Given the description of an element on the screen output the (x, y) to click on. 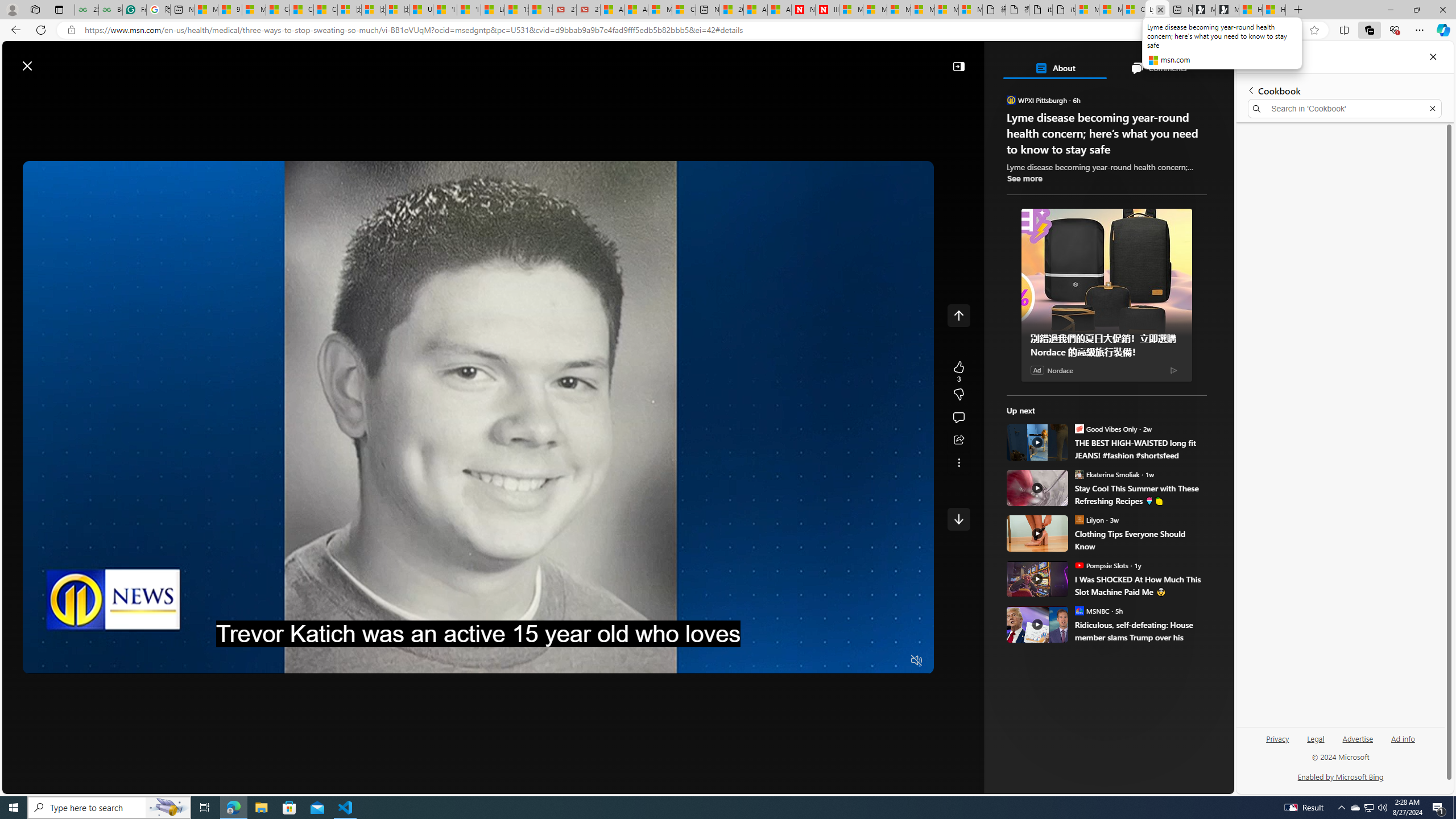
Advertise (1357, 738)
Pompsie Slots (1079, 565)
Lilyon Lilyon (1089, 519)
The Wall Street Journal (1060, 366)
Legal (1315, 742)
Minimize (1390, 9)
Lilyon (1079, 519)
Microsoft rewards (1162, 60)
Personal Profile (12, 9)
Consumer Health Data Privacy Policy (1134, 9)
Microsoft Start Gaming (1227, 9)
Reuters (1060, 316)
Open settings (1208, 60)
